Given the description of an element on the screen output the (x, y) to click on. 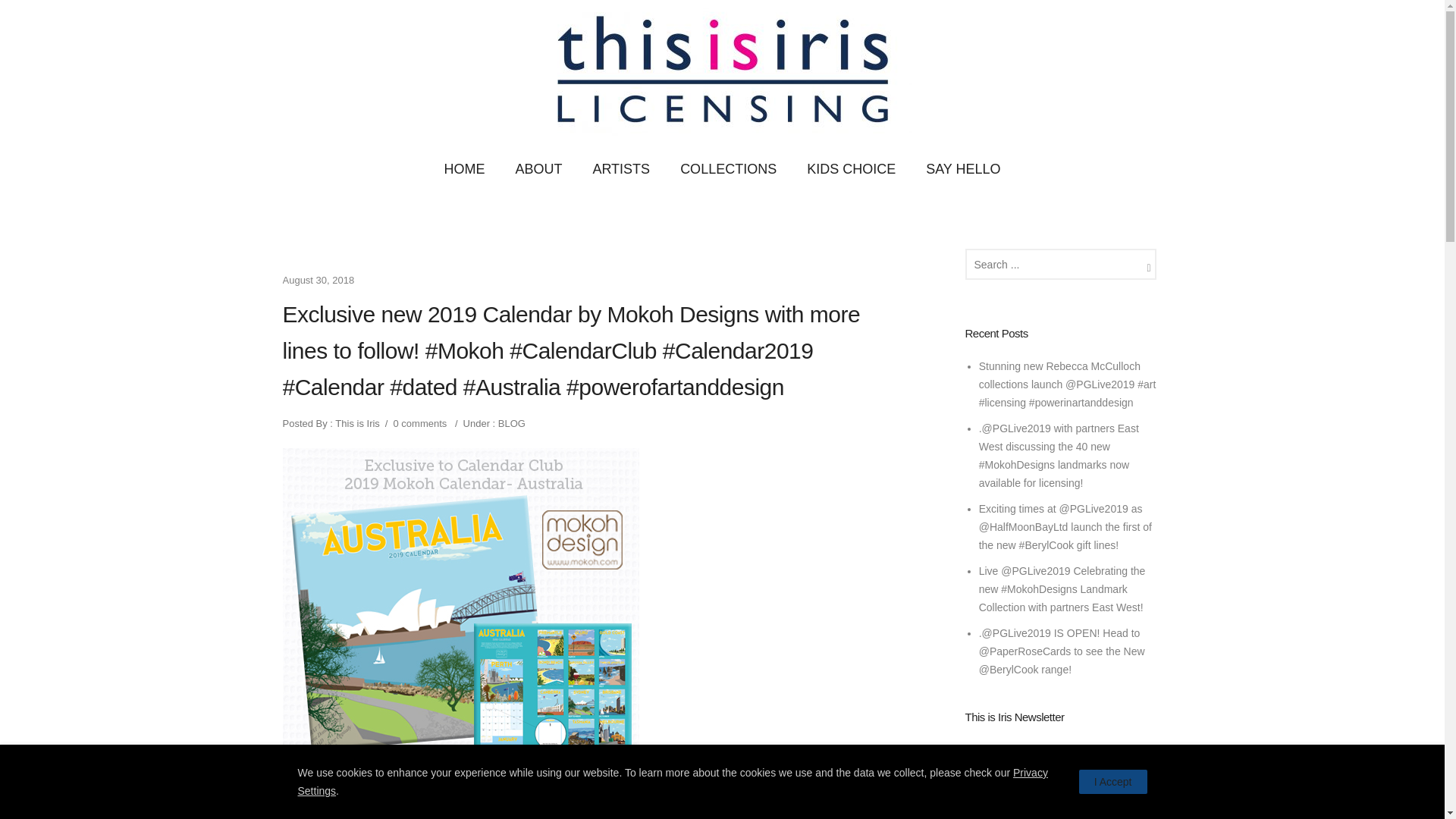
SAY HELLO (962, 169)
HOME (463, 169)
BLOG (510, 423)
KIDS CHOICE (851, 169)
SAY HELLO (962, 169)
ABOUT (537, 169)
KIDS CHOICE (851, 169)
August 30, 2018 (317, 279)
ARTISTS (620, 169)
ABOUT (537, 169)
COLLECTIONS (728, 169)
0 comments (419, 423)
ARTISTS (620, 169)
HOME (463, 169)
COLLECTIONS (728, 169)
